Given the description of an element on the screen output the (x, y) to click on. 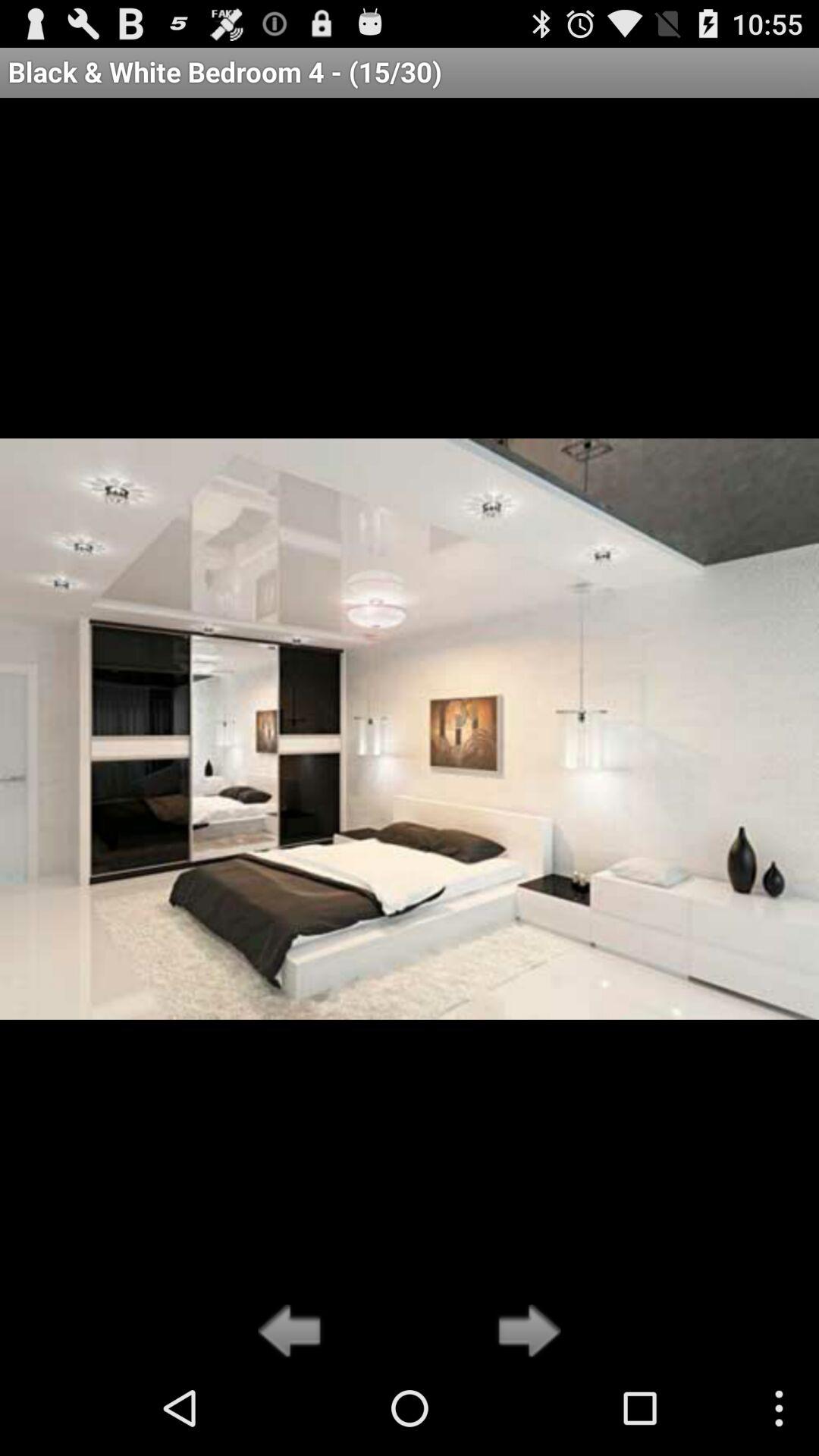
go back to previous picture (293, 1332)
